Given the description of an element on the screen output the (x, y) to click on. 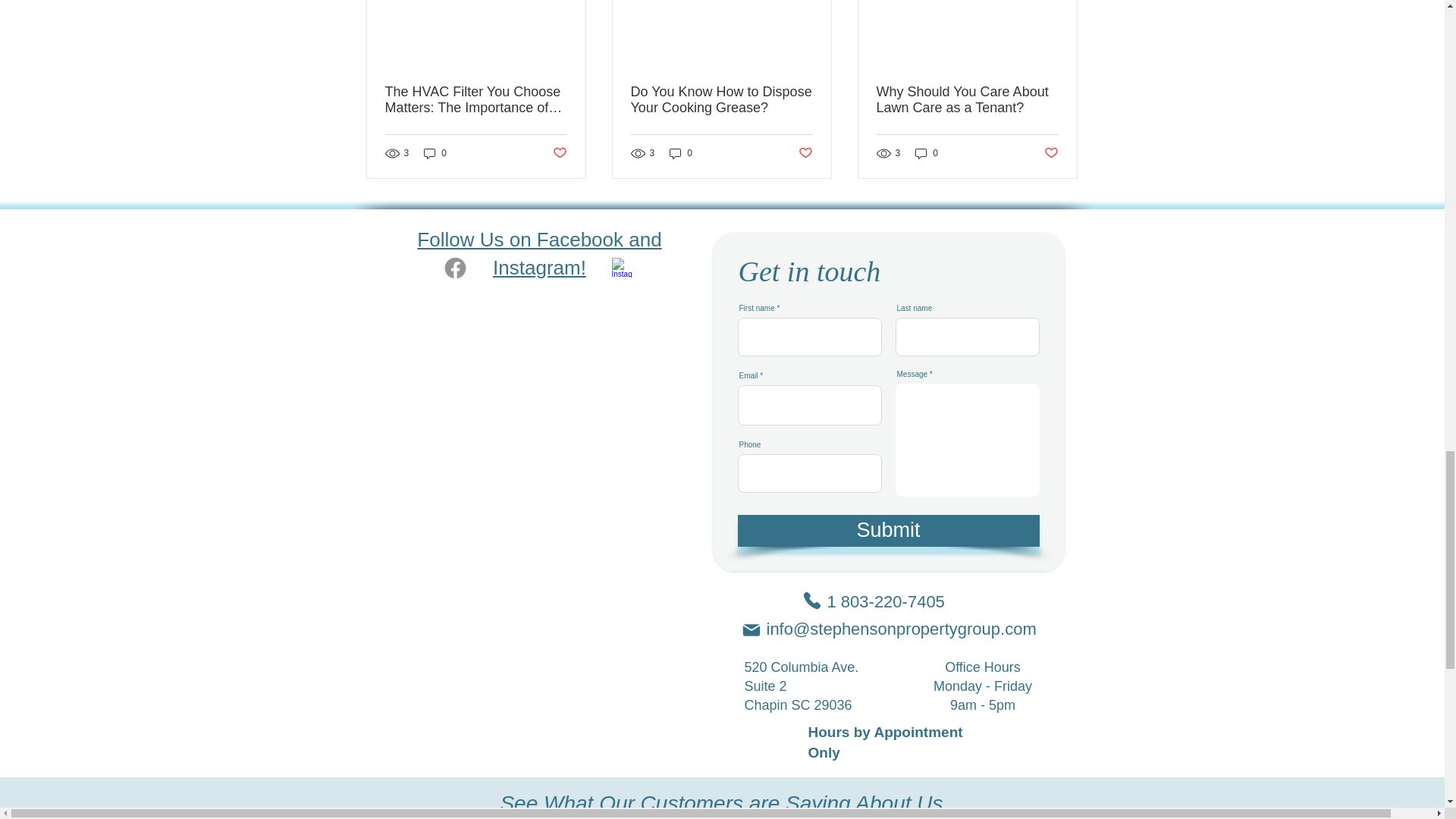
Facebook (454, 267)
Follow Us on Facebook and Instagram! (538, 253)
Submit (887, 531)
0 (435, 153)
0 (681, 153)
0 (926, 153)
Do You Know How to Dispose Your Cooking Grease? (721, 100)
Post not marked as liked (1050, 153)
Post not marked as liked (558, 153)
Why Should You Care About Lawn Care as a Tenant? (967, 100)
Post not marked as liked (804, 153)
